Given the description of an element on the screen output the (x, y) to click on. 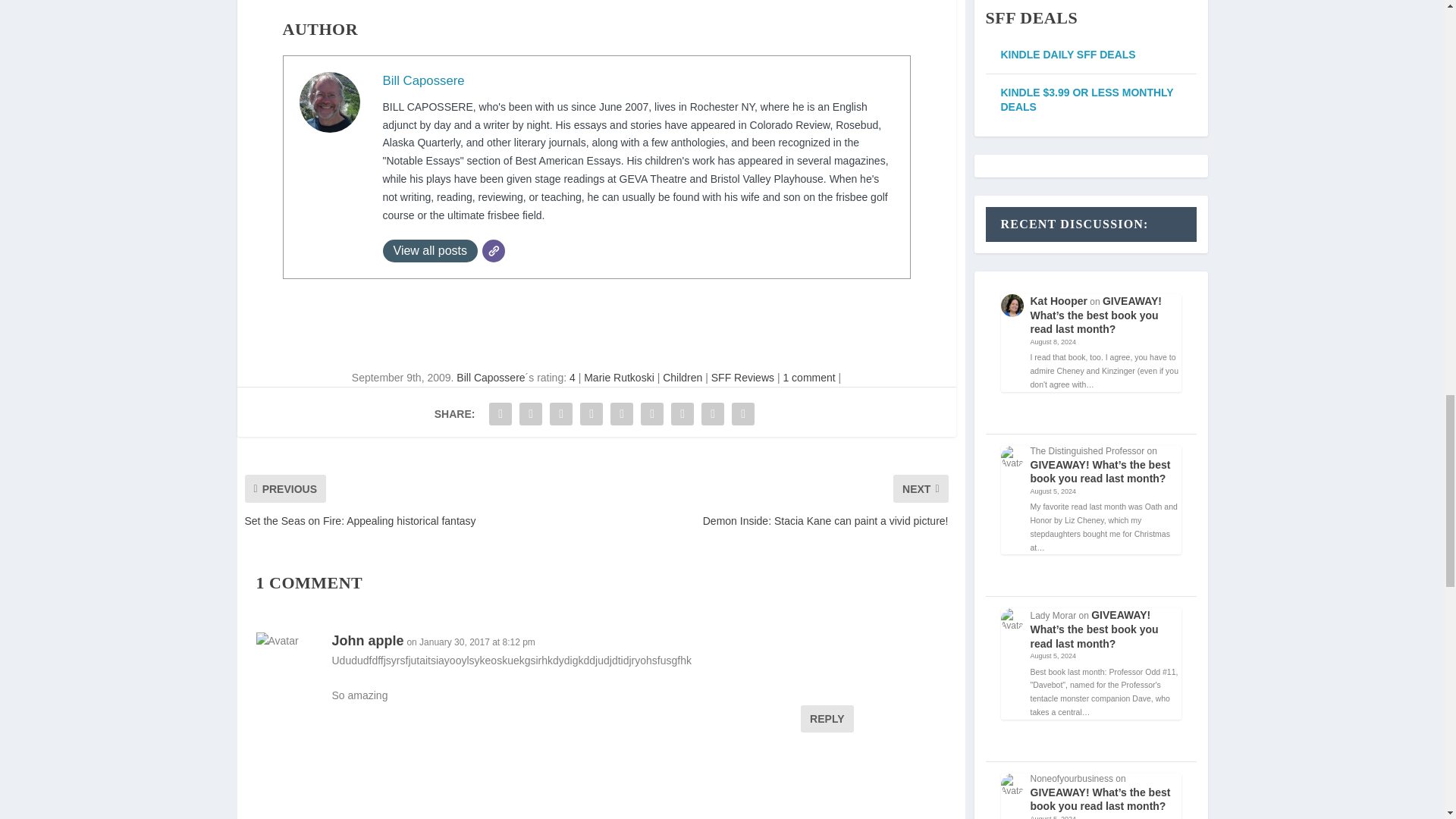
Bill Capossere (422, 80)
View all posts (429, 250)
Posts by Bill Capossere (490, 377)
